Given the description of an element on the screen output the (x, y) to click on. 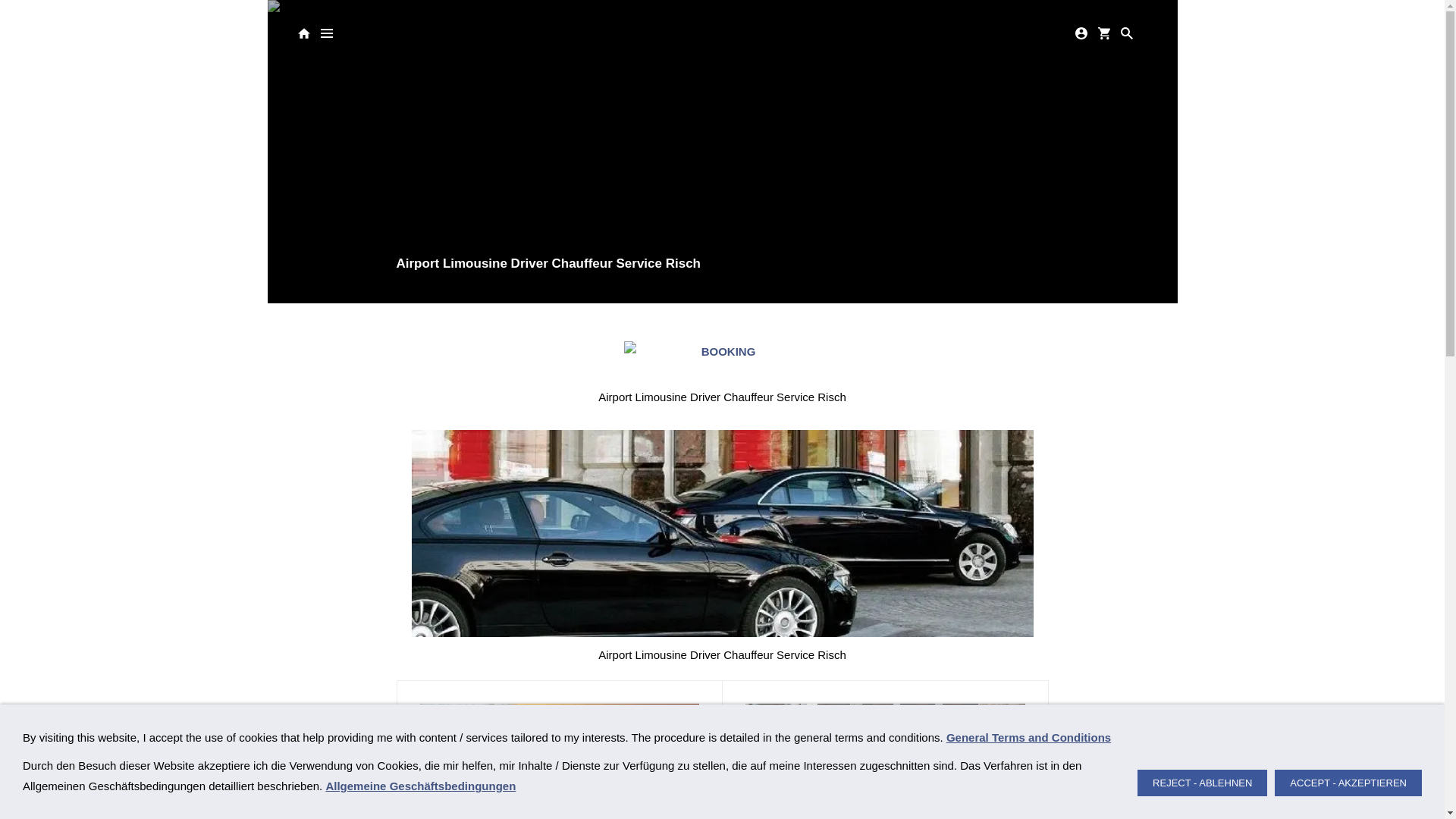
ACCEPT - AKZEPTIEREN Element type: text (1347, 782)
REJECT - ABLEHNEN Element type: text (1202, 782)
General Terms and Conditions Element type: text (1028, 737)
